Given the description of an element on the screen output the (x, y) to click on. 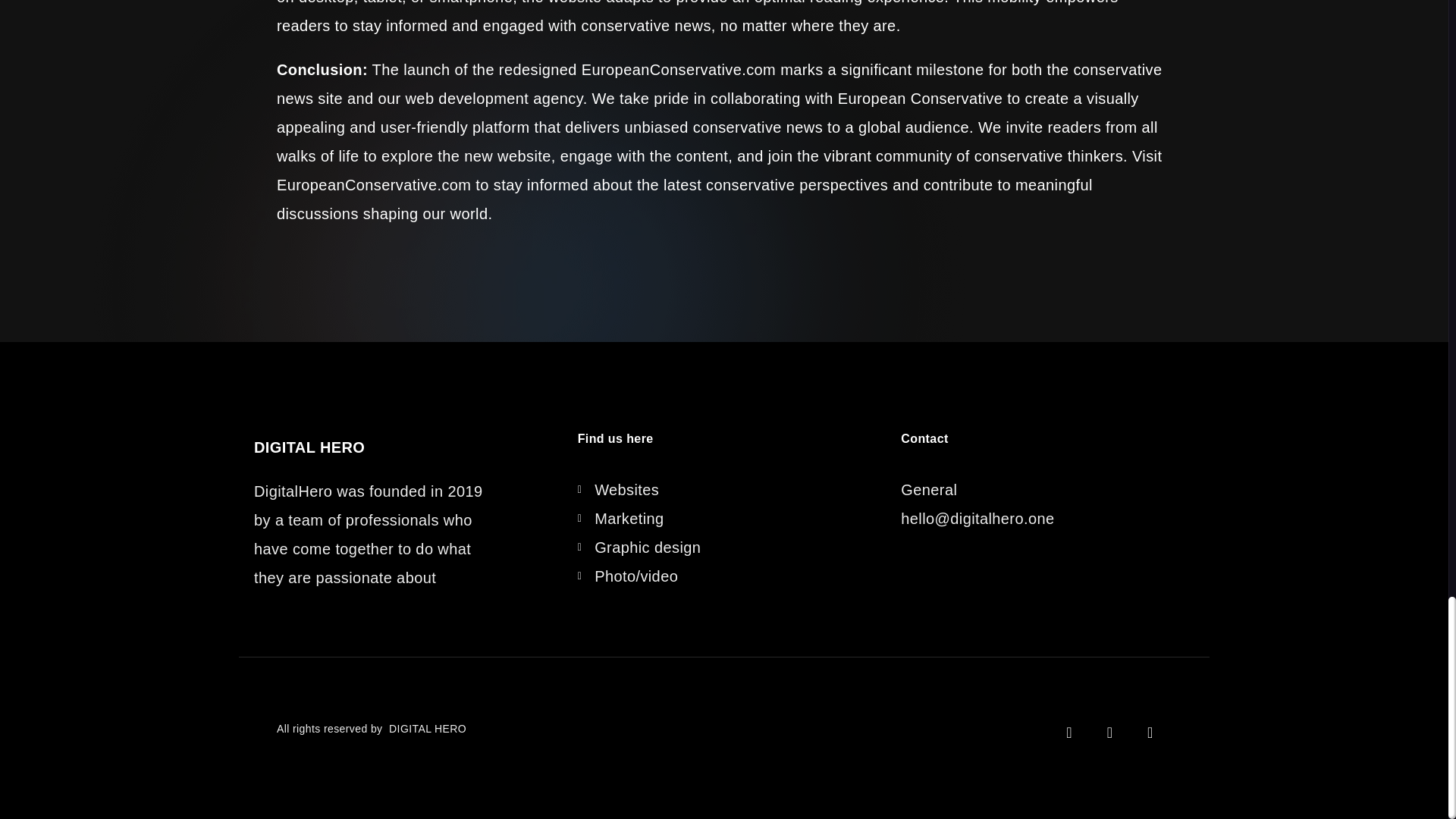
Websites (724, 489)
Marketing (724, 518)
Graphic design (724, 547)
